Given the description of an element on the screen output the (x, y) to click on. 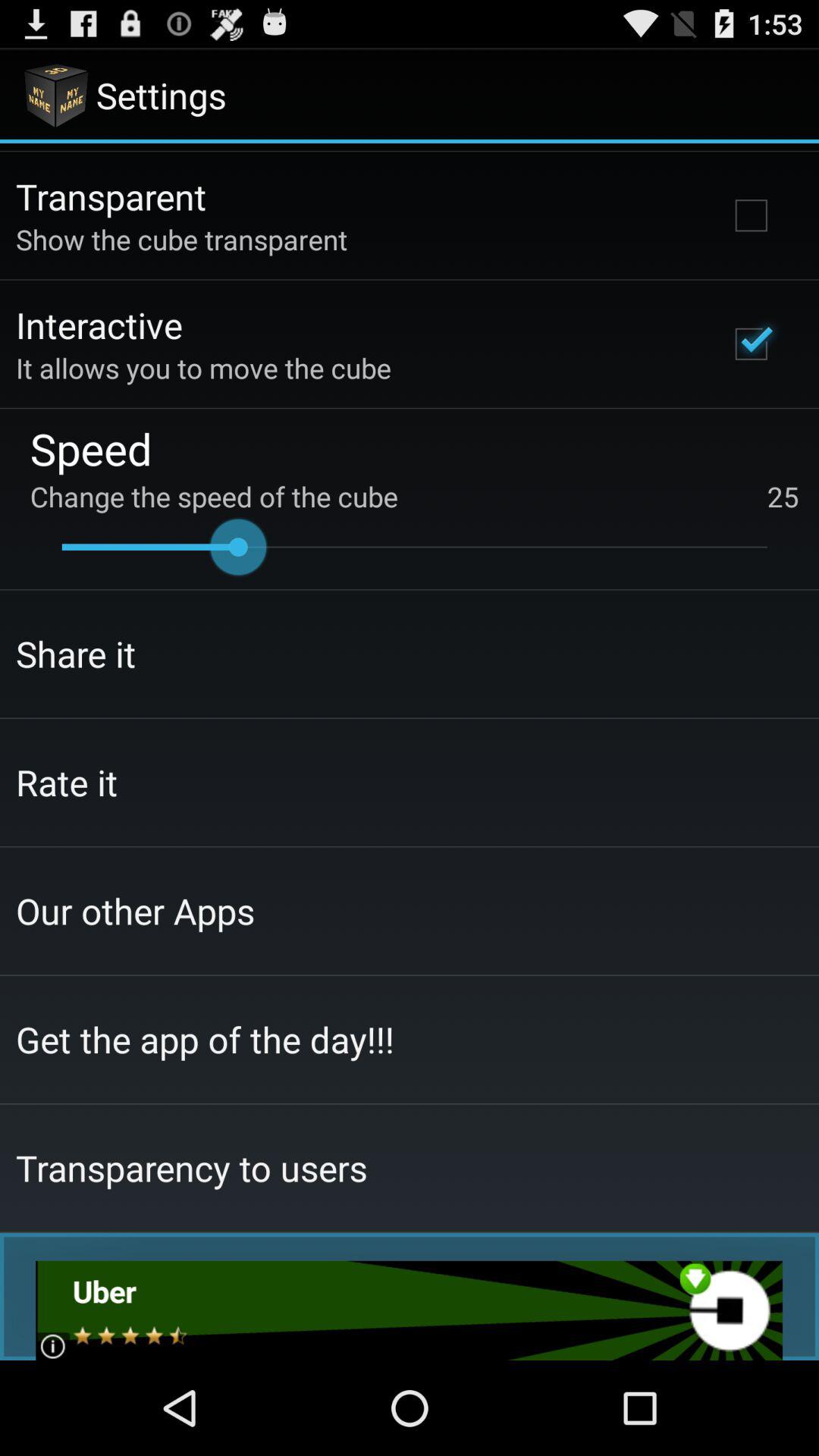
scroll to change the speed (414, 496)
